Given the description of an element on the screen output the (x, y) to click on. 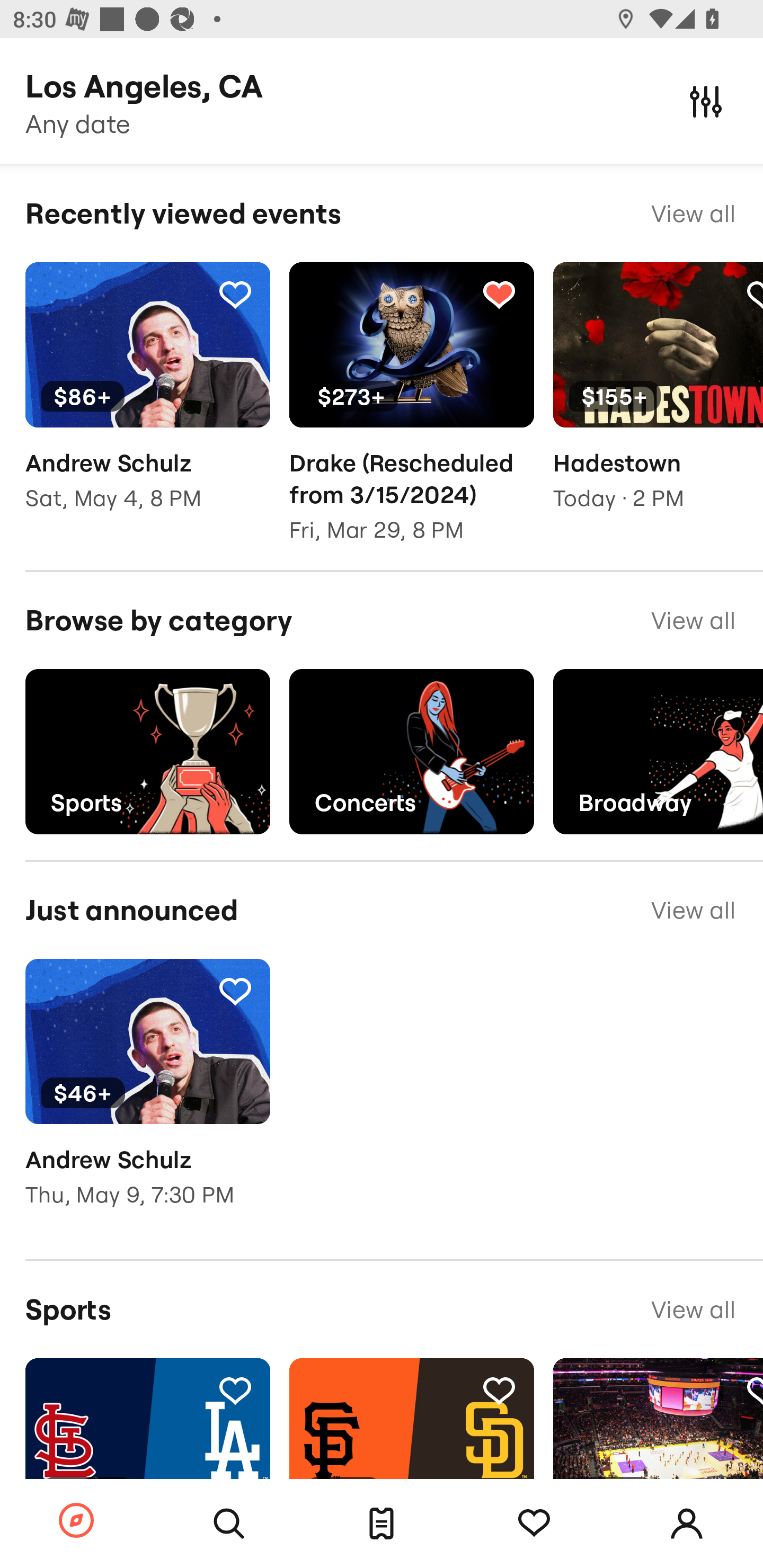
Close (705, 100)
View all (693, 212)
Tracking $86+ Andrew Schulz Sat, May 4, 8 PM (147, 399)
Tracking $155+ Hadestown Today · 2 PM (658, 399)
Tracking (234, 293)
Tracking (498, 293)
View all (693, 620)
Sports (147, 751)
Concerts (411, 751)
Broadway (658, 751)
View all (693, 910)
Tracking $46+ Andrew Schulz Thu, May 9, 7:30 PM (147, 1096)
Tracking (234, 990)
View all (693, 1308)
Tracking (234, 1389)
Tracking (498, 1389)
Browse (76, 1521)
Search (228, 1523)
Tickets (381, 1523)
Tracking (533, 1523)
Account (686, 1523)
